Given the description of an element on the screen output the (x, y) to click on. 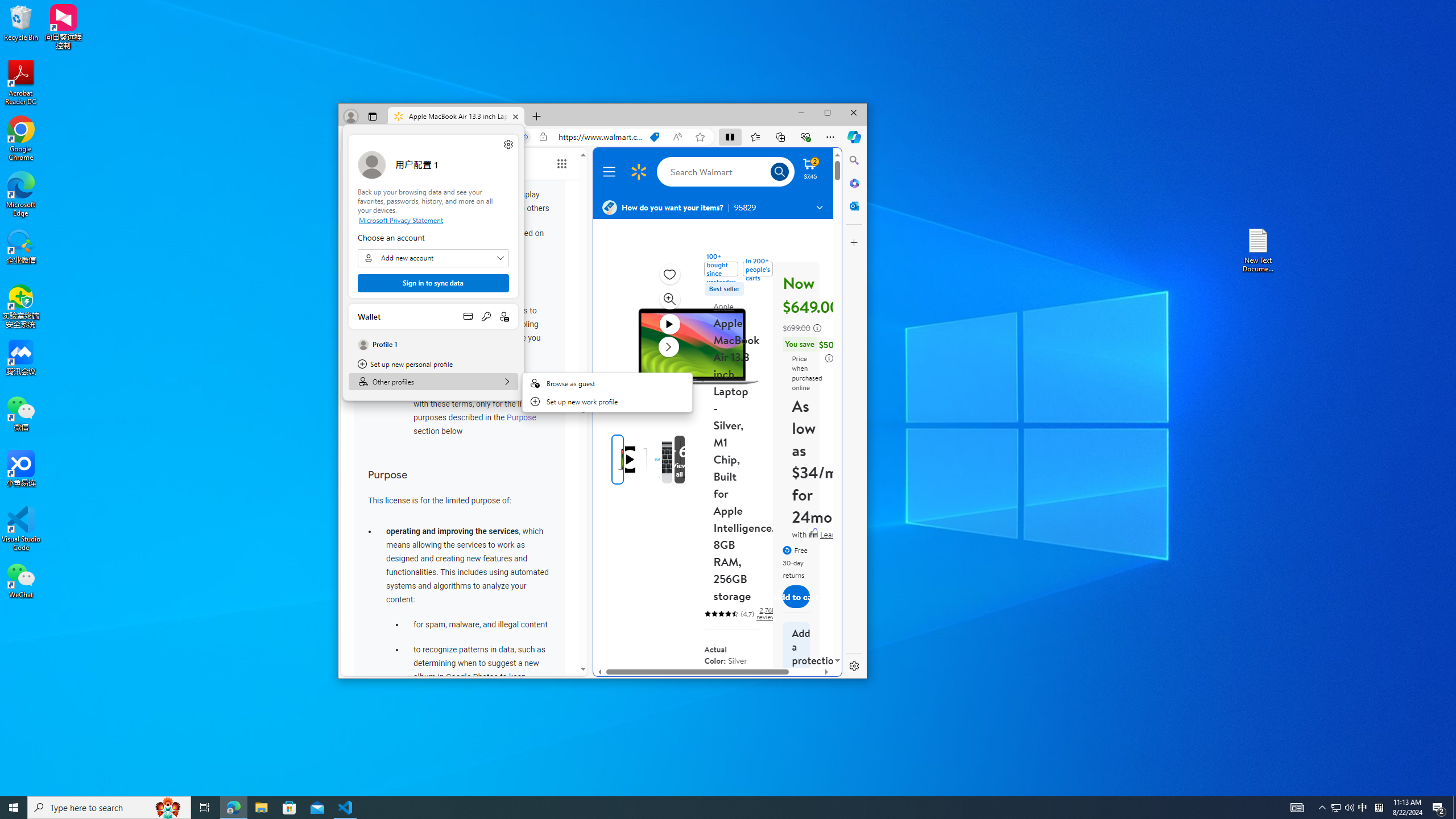
Maximize (826, 112)
Walmart Homepage (637, 171)
File Explorer (261, 807)
Open passwords (486, 316)
Visual Studio Code - 1 running window (345, 807)
Browse as guest (606, 383)
Gold (716, 684)
learn more about strikethrough prices (817, 328)
Open personal info (504, 316)
Set up new personal profile (432, 363)
